Given the description of an element on the screen output the (x, y) to click on. 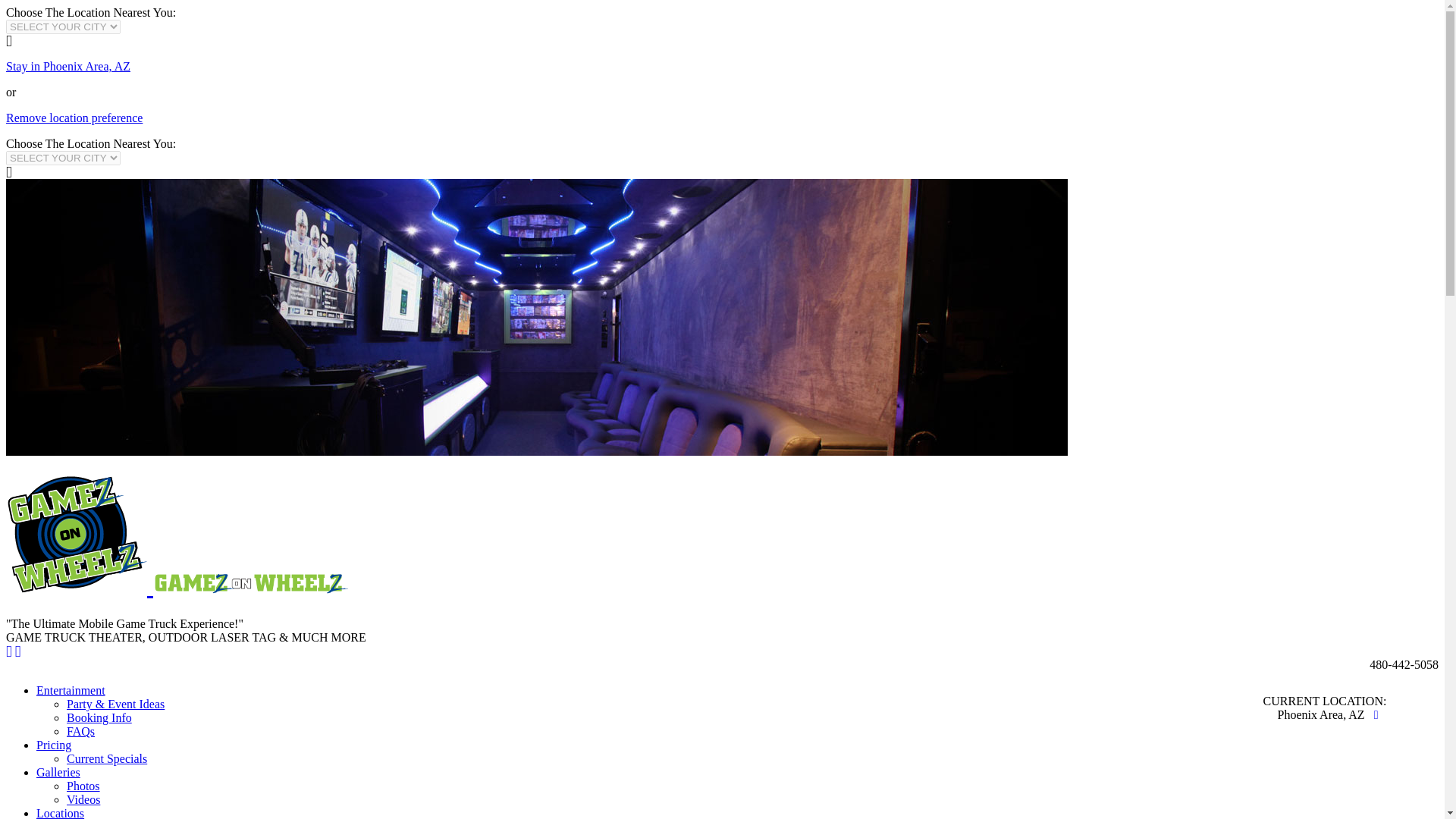
Galleries (58, 771)
Locations (60, 812)
Gamez on Wheelz (177, 585)
Videos (83, 799)
Pricing (53, 744)
FAQs (80, 730)
Stay in Phoenix Area, AZ (68, 65)
Photos (83, 785)
Booking Info (99, 717)
Current Specials (106, 758)
